Given the description of an element on the screen output the (x, y) to click on. 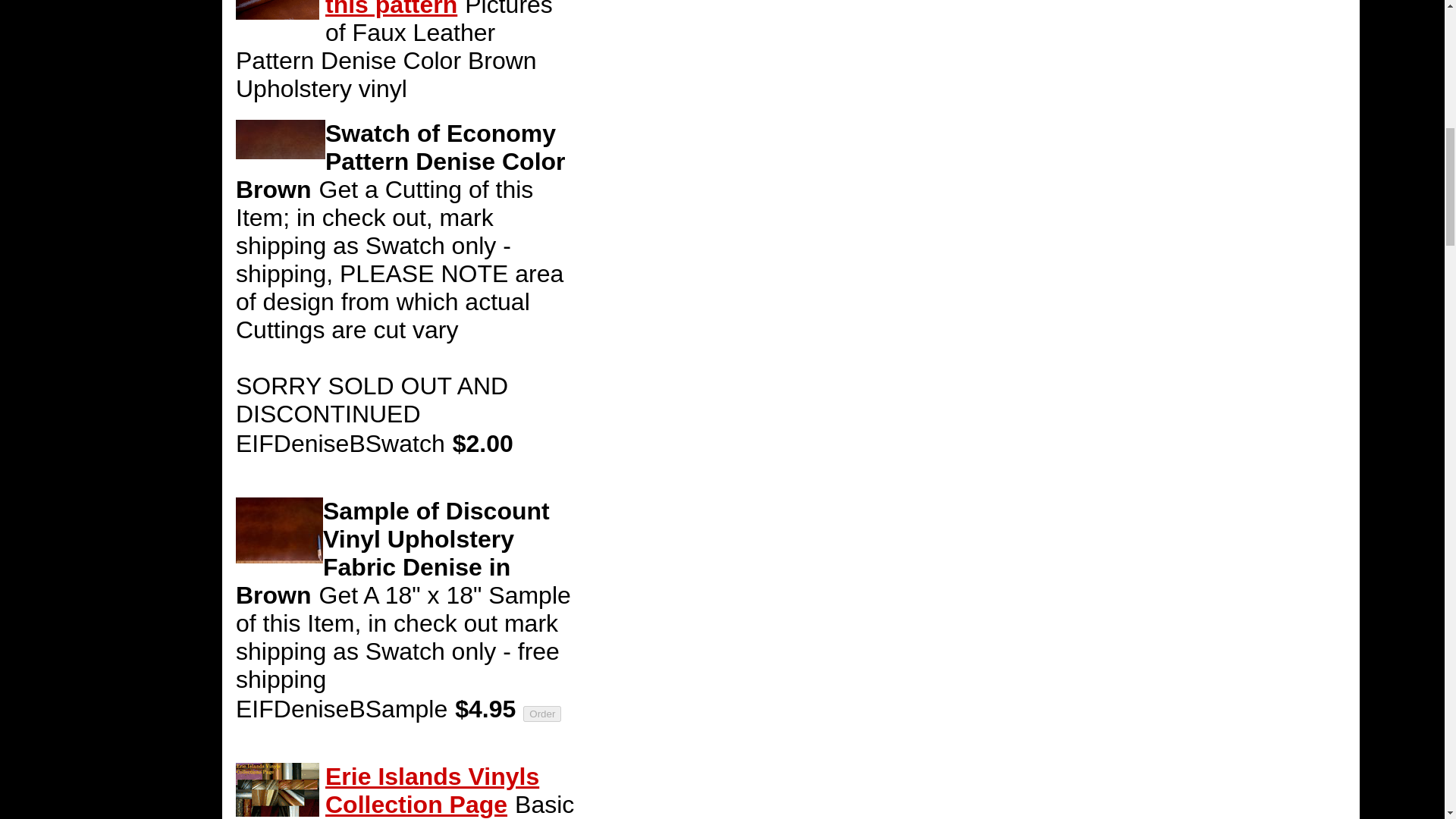
Erie Islands Vinyls Collection Page (431, 790)
See more images of this pattern (439, 9)
Order (541, 713)
Order (541, 713)
